Given the description of an element on the screen output the (x, y) to click on. 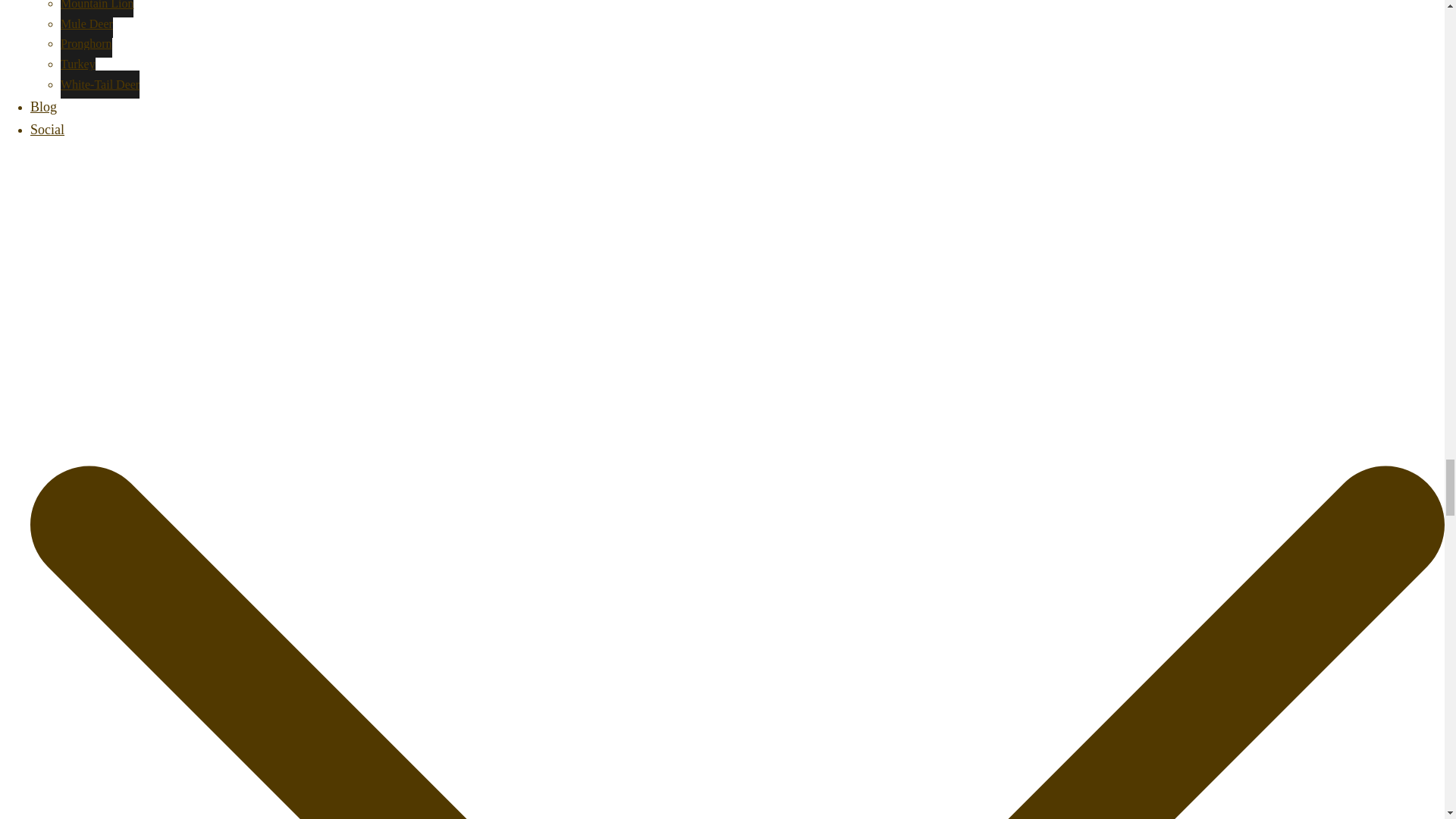
Mountain Lion (97, 8)
Turkey (78, 63)
Mule Deer (87, 23)
Pronghorn (86, 43)
